Given the description of an element on the screen output the (x, y) to click on. 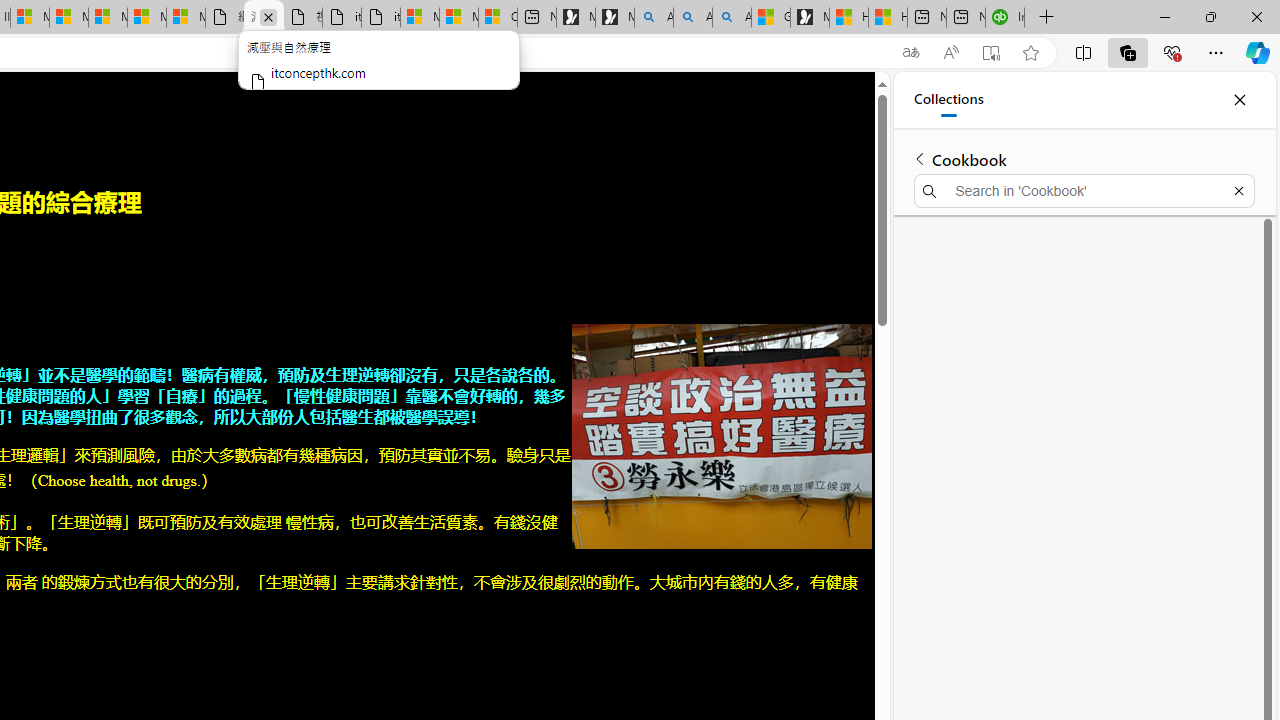
Consumer Health Data Privacy Policy (497, 17)
Alabama high school quarterback dies - Search (653, 17)
How to Use a TV as a Computer Monitor (888, 17)
Back to list of collections (920, 158)
Search in 'Cookbook' (1084, 190)
